Given the description of an element on the screen output the (x, y) to click on. 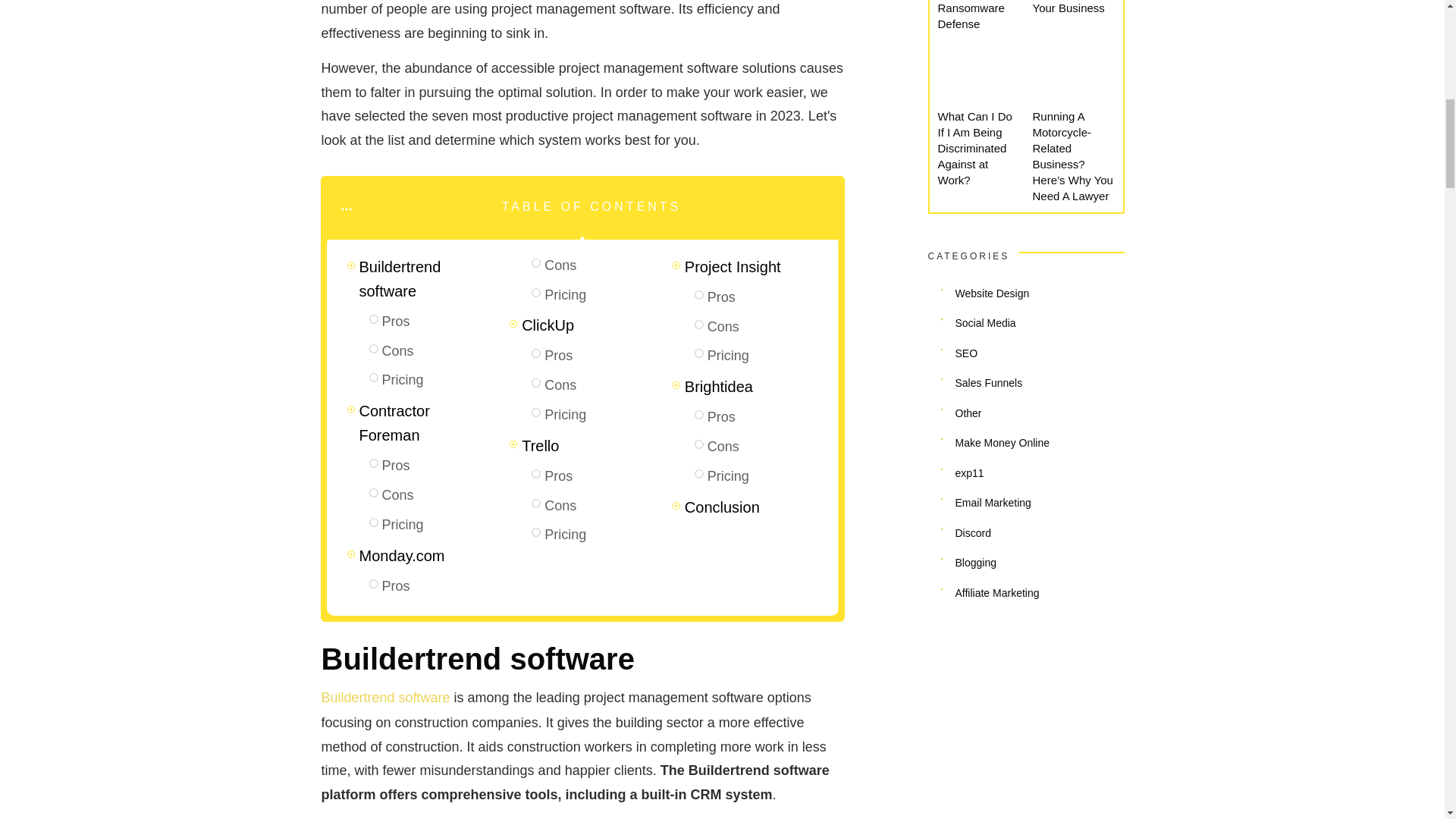
Buildertrend software  (426, 278)
What Can I Do If I Am Being Discriminated Against at Work? (974, 147)
Cons (723, 446)
Pricing  (566, 535)
Cons  (561, 385)
Project Insight  (734, 266)
Cons  (399, 495)
Pros (558, 355)
Pros  (397, 586)
Contractor Foreman  (426, 422)
Cons  (724, 327)
Pricing  (566, 295)
ClickUp  (549, 324)
Contractor Foreman  (426, 422)
Pros  (397, 321)
